Given the description of an element on the screen output the (x, y) to click on. 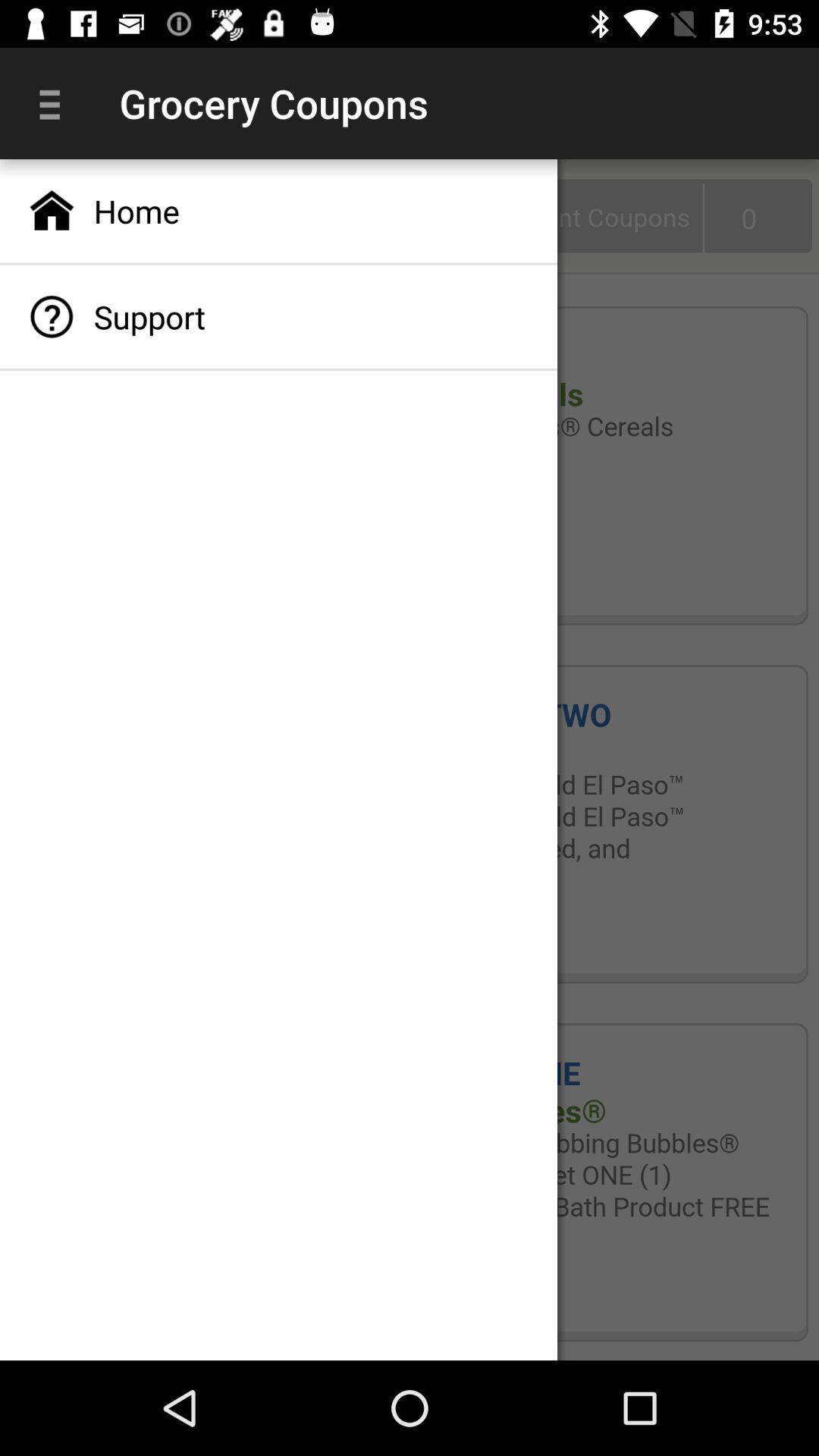
flip until the support app (278, 316)
